Given the description of an element on the screen output the (x, y) to click on. 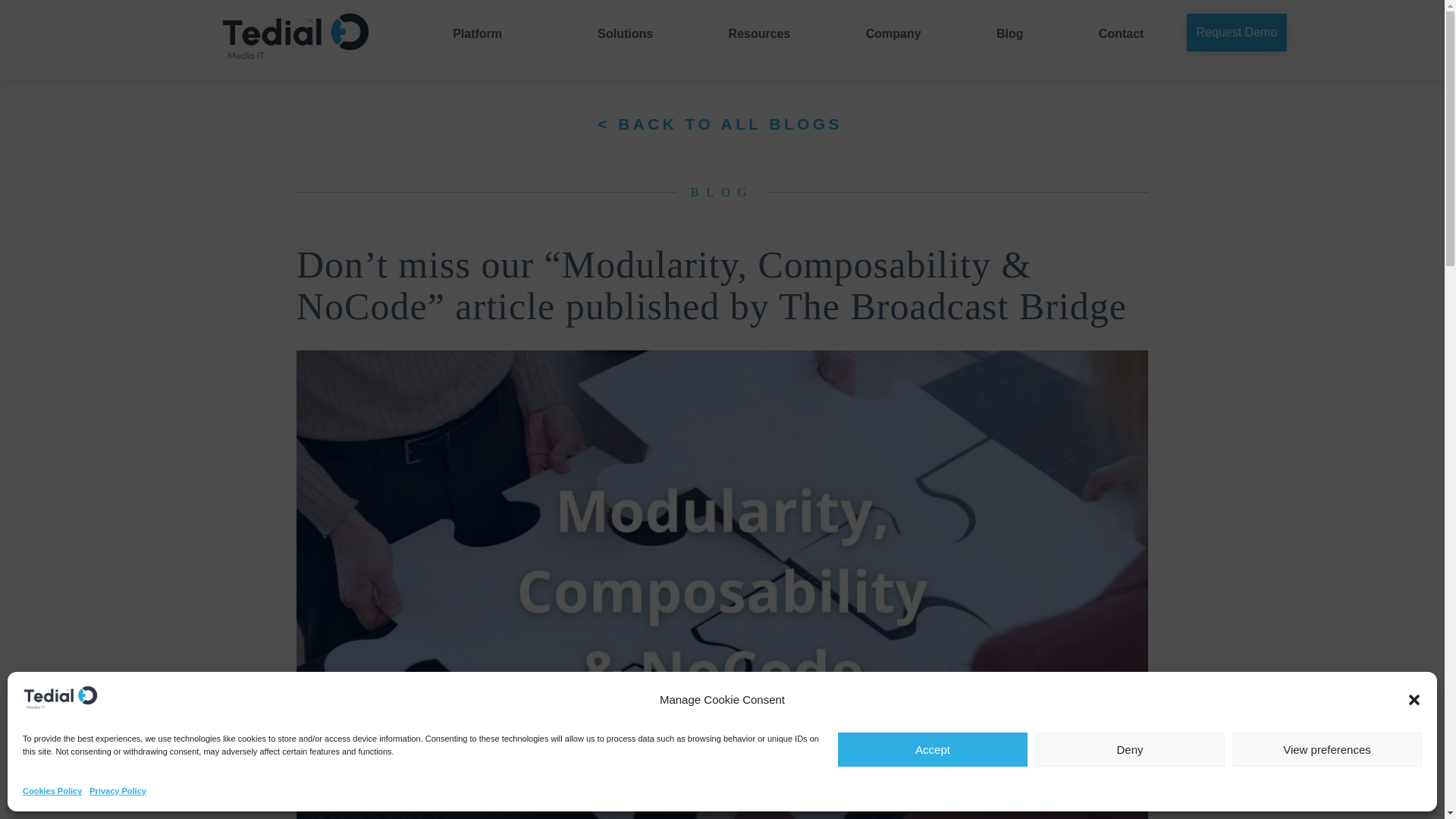
Privacy Policy (117, 791)
Cookies Policy (52, 791)
Deny (1129, 749)
View preferences (1326, 749)
Solutions (615, 33)
Accept (932, 749)
Platform (467, 20)
